Given the description of an element on the screen output the (x, y) to click on. 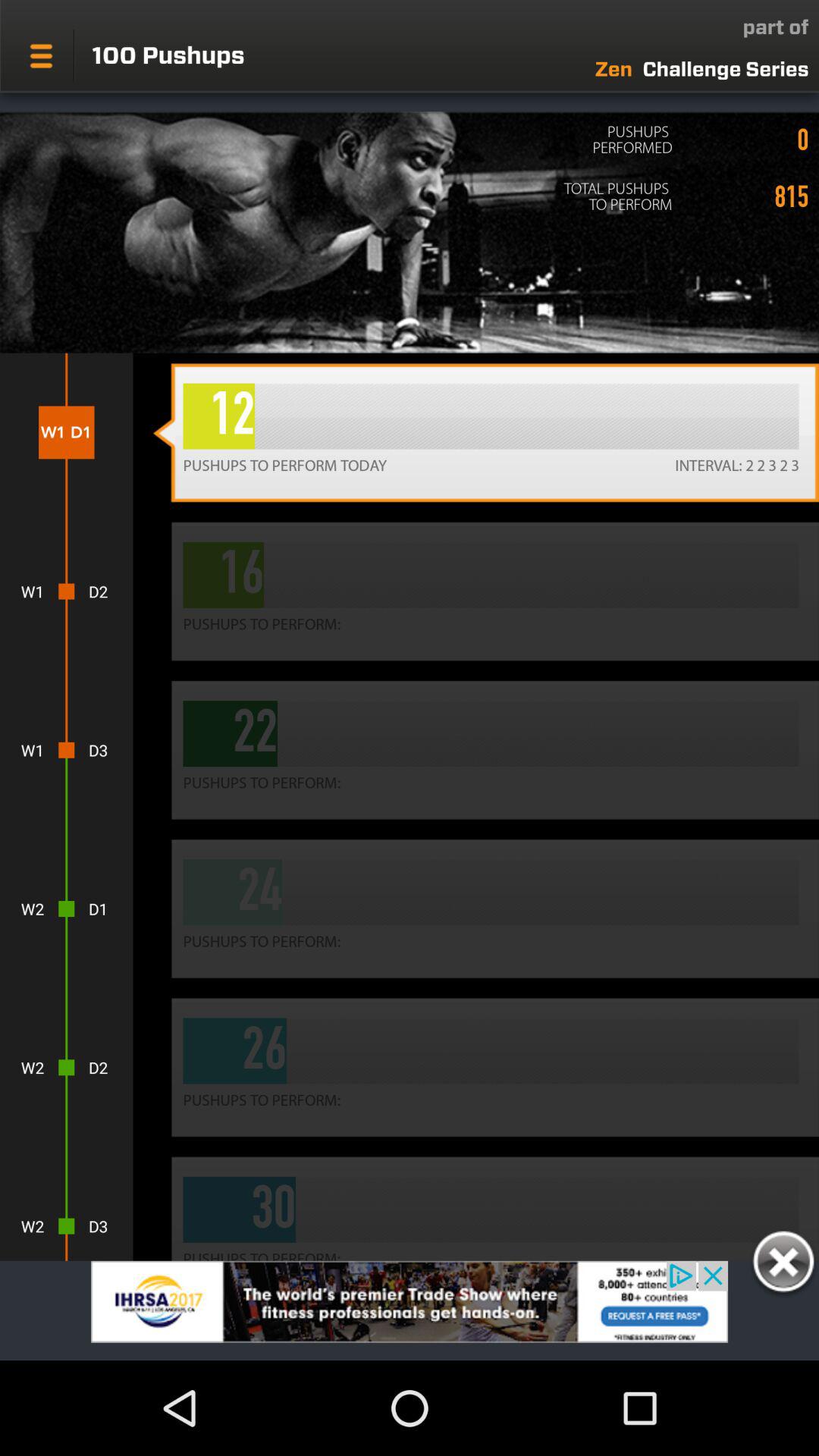
work level (783, 1264)
